Given the description of an element on the screen output the (x, y) to click on. 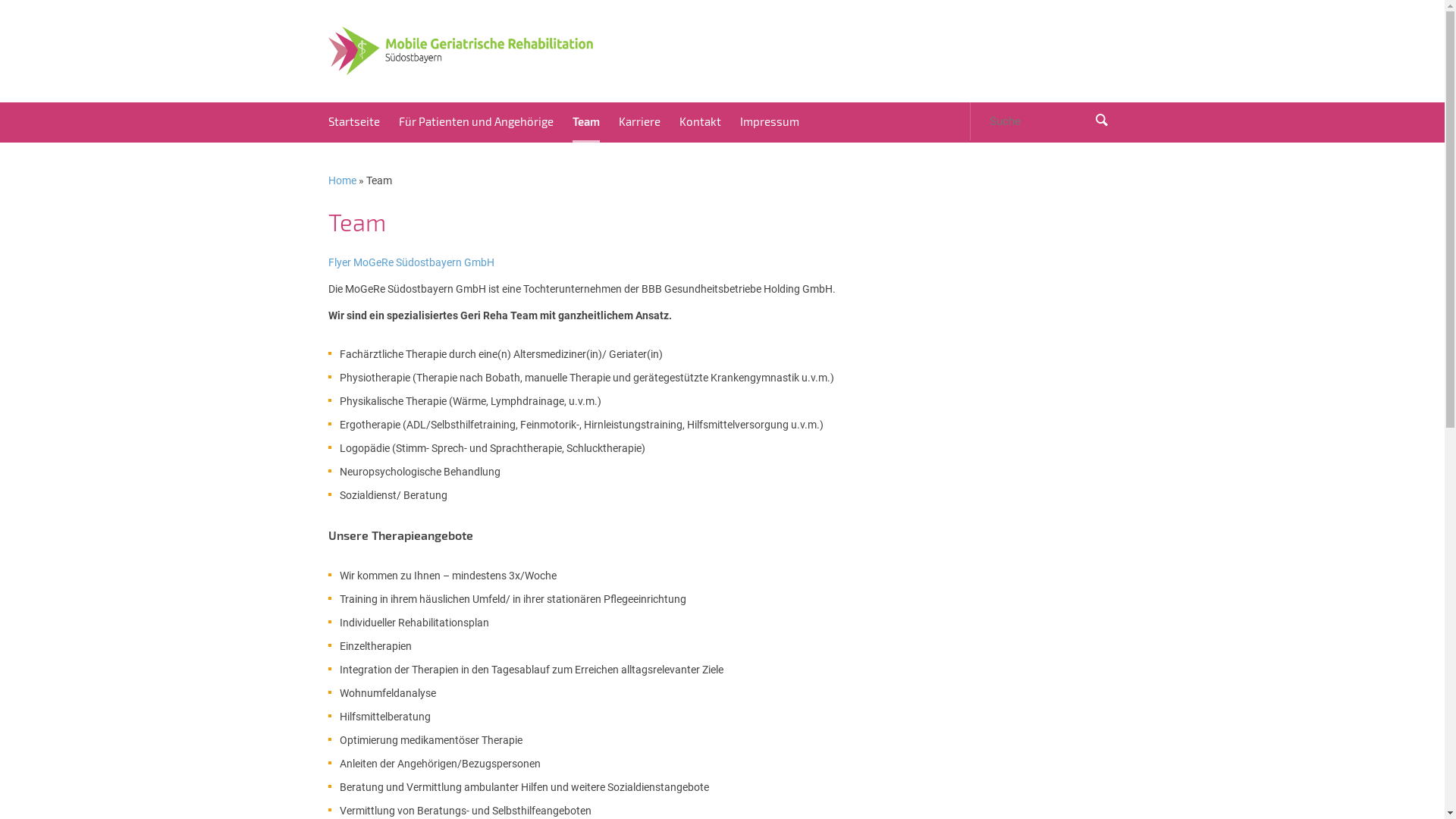
Kontakt Element type: text (700, 121)
Startseite Element type: text (353, 121)
Impressum Element type: text (769, 121)
Team Element type: text (585, 121)
Karriere Element type: text (639, 121)
Home Element type: text (341, 180)
